Given the description of an element on the screen output the (x, y) to click on. 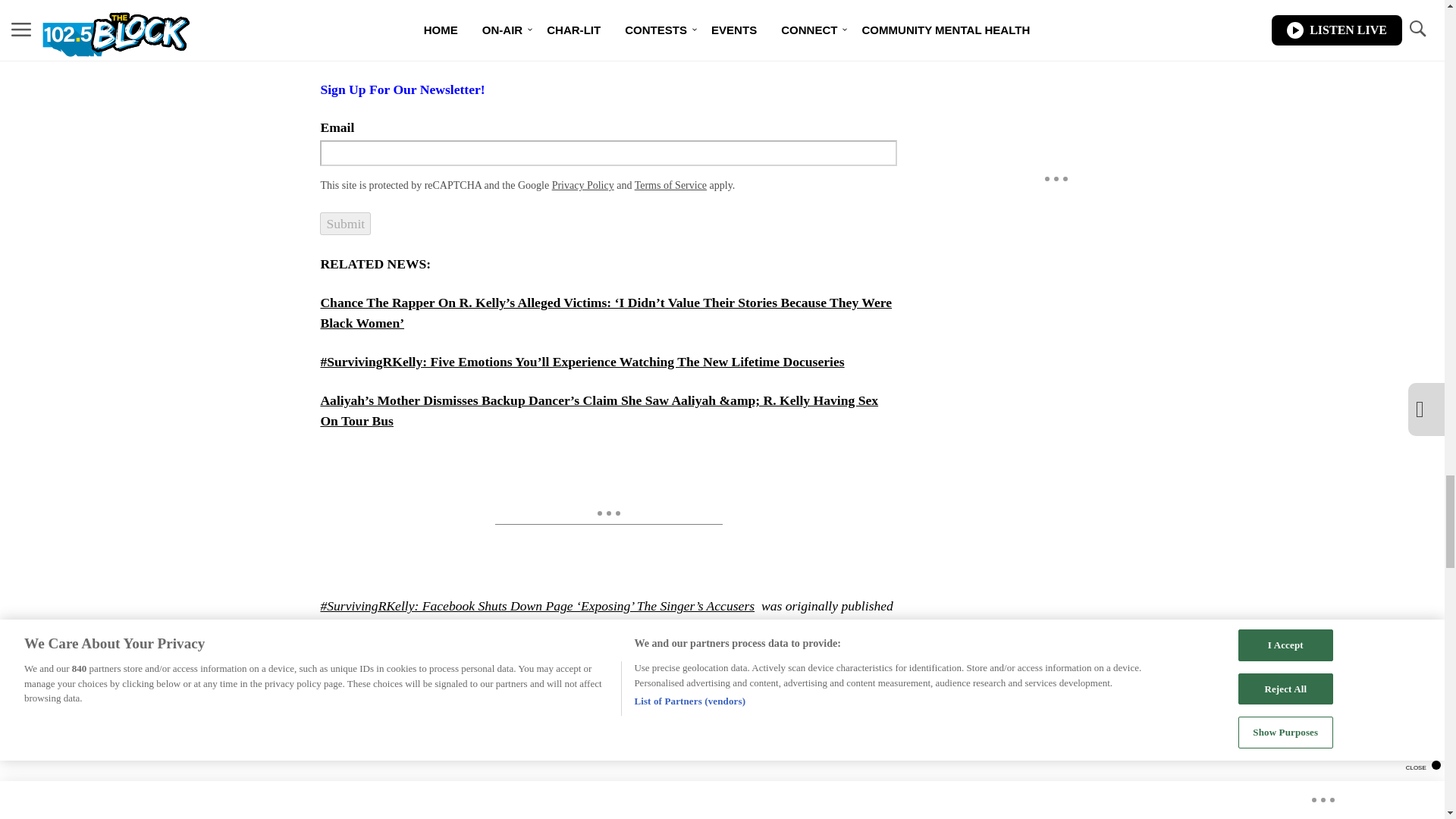
Vuukle Sharebar Widget (585, 740)
